Given the description of an element on the screen output the (x, y) to click on. 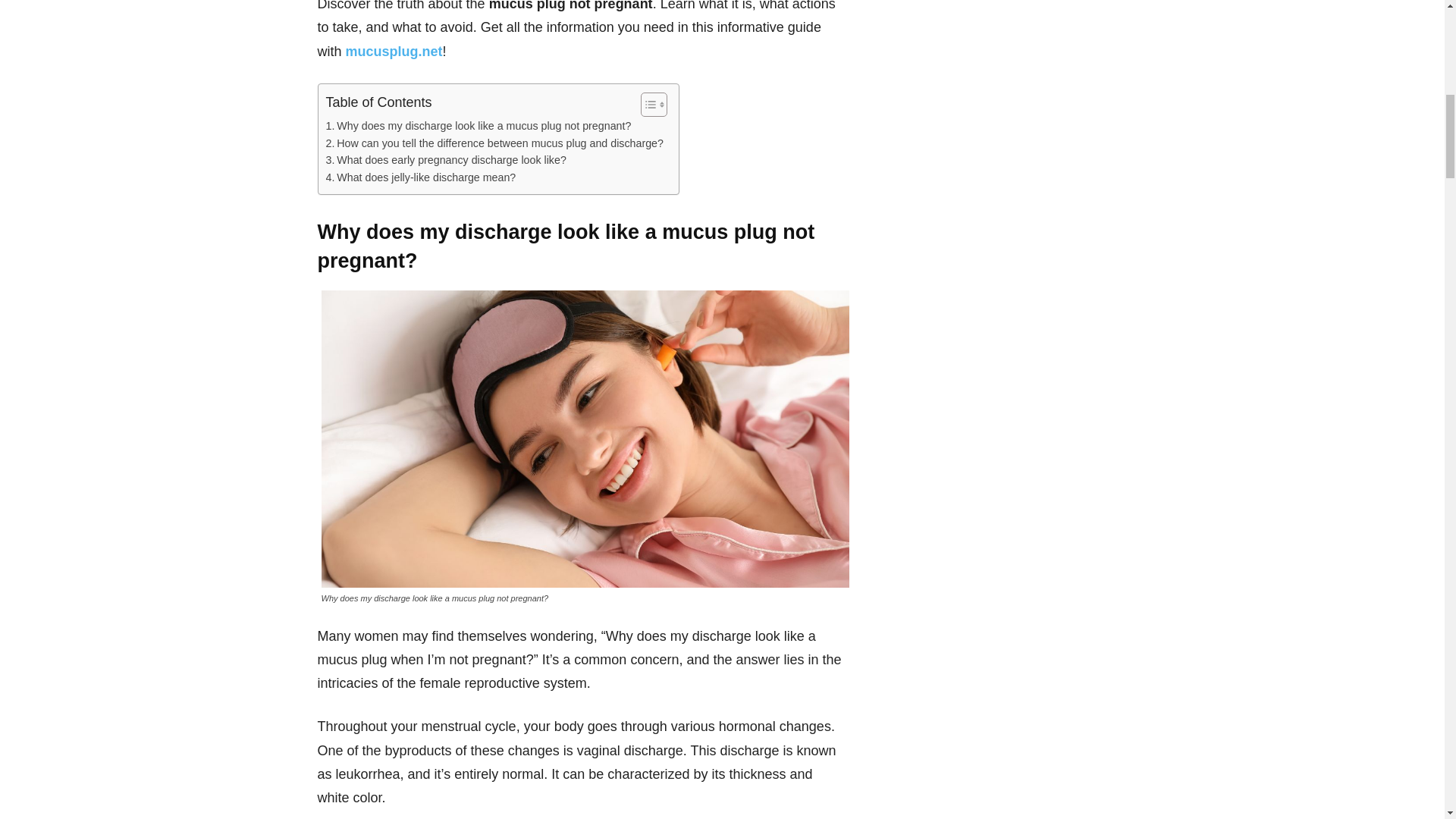
What does jelly-like discharge mean? (421, 177)
Why does my discharge look like a mucus plug not pregnant? (478, 126)
mucusplug.net (394, 51)
What does early pregnancy discharge look like? (446, 159)
